Given the description of an element on the screen output the (x, y) to click on. 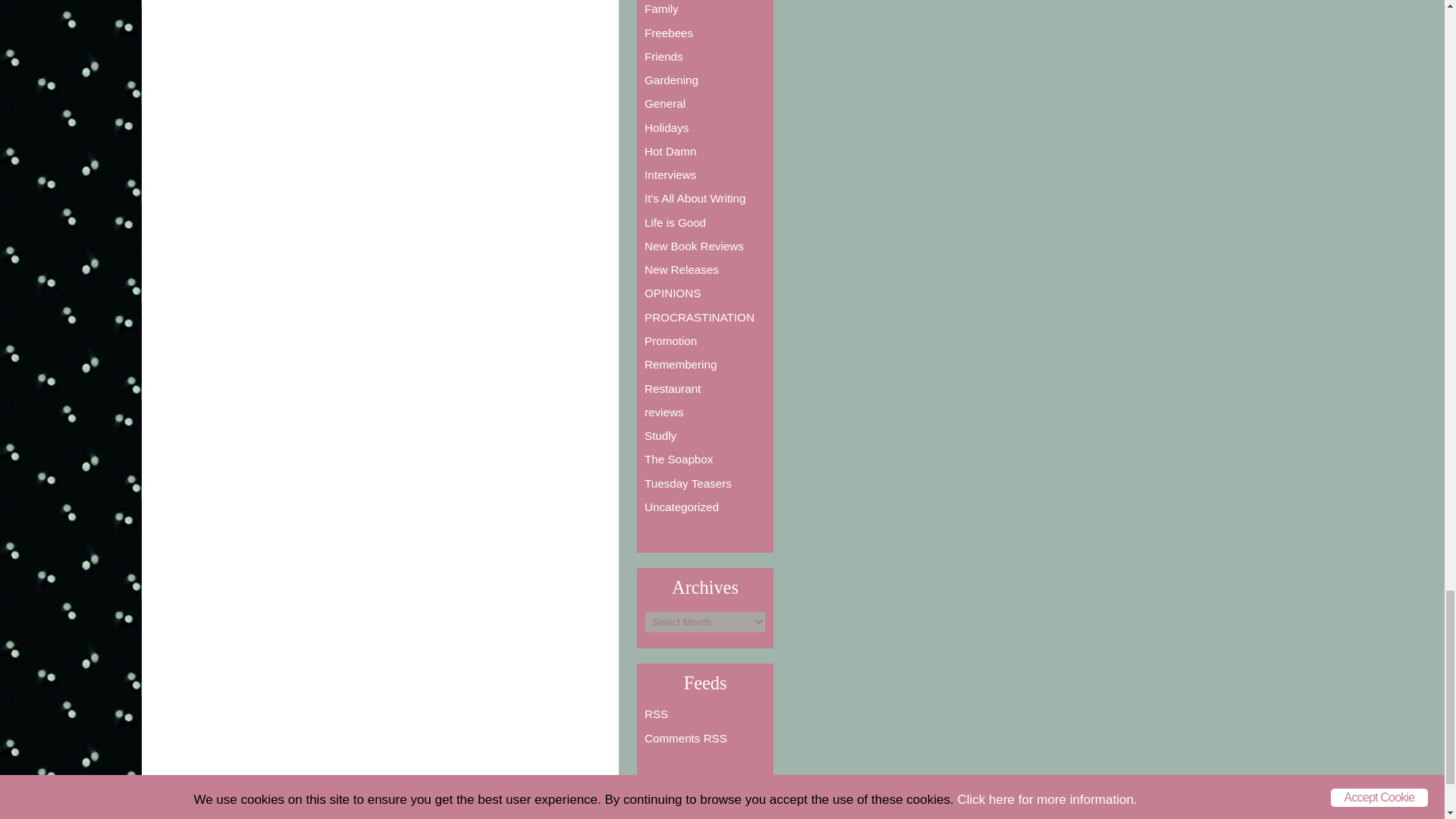
The latest comments to all posts in RSS (685, 738)
